Given the description of an element on the screen output the (x, y) to click on. 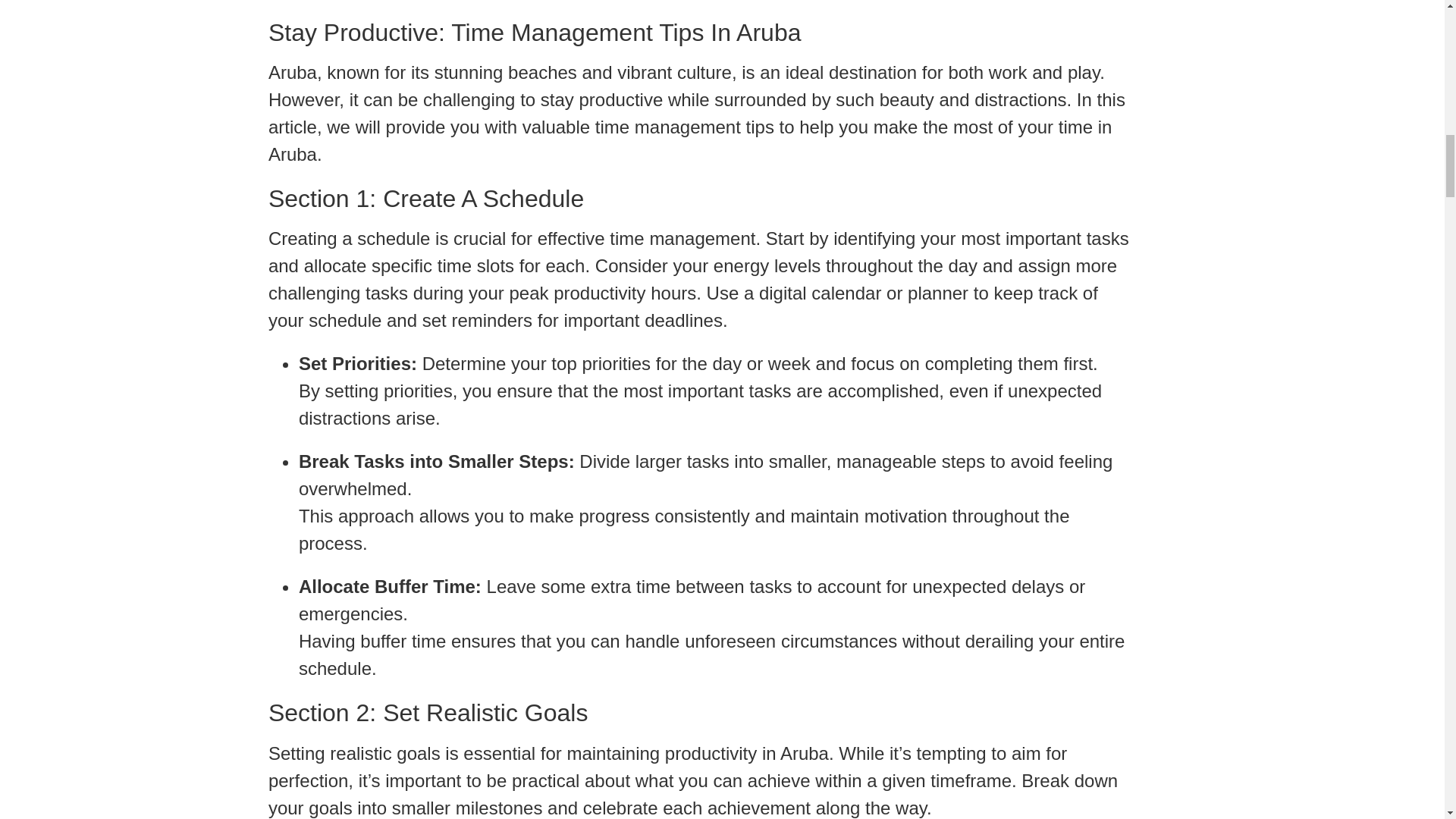
Stay Productive: Time Management Tips in Aruba (699, 32)
Section 1: Create a Schedule (699, 198)
Section 2: Set Realistic Goals (699, 712)
